Given the description of an element on the screen output the (x, y) to click on. 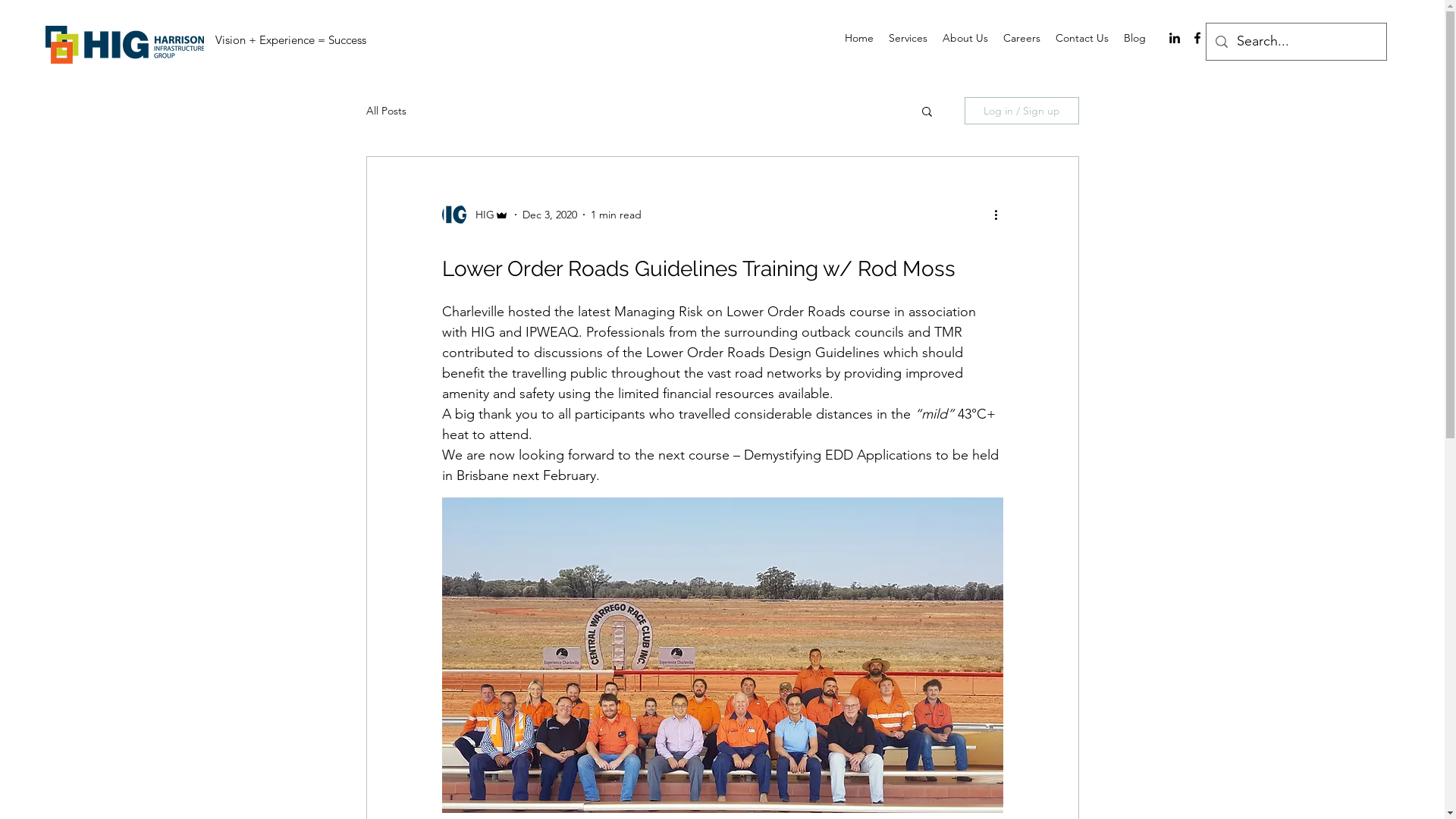
About Us Element type: text (965, 37)
Contact Us Element type: text (1082, 37)
Log in / Sign up Element type: text (1021, 110)
All Posts Element type: text (385, 110)
Home Element type: text (859, 37)
Blog Element type: text (1134, 37)
Careers Element type: text (1021, 37)
Services Element type: text (908, 37)
